Given the description of an element on the screen output the (x, y) to click on. 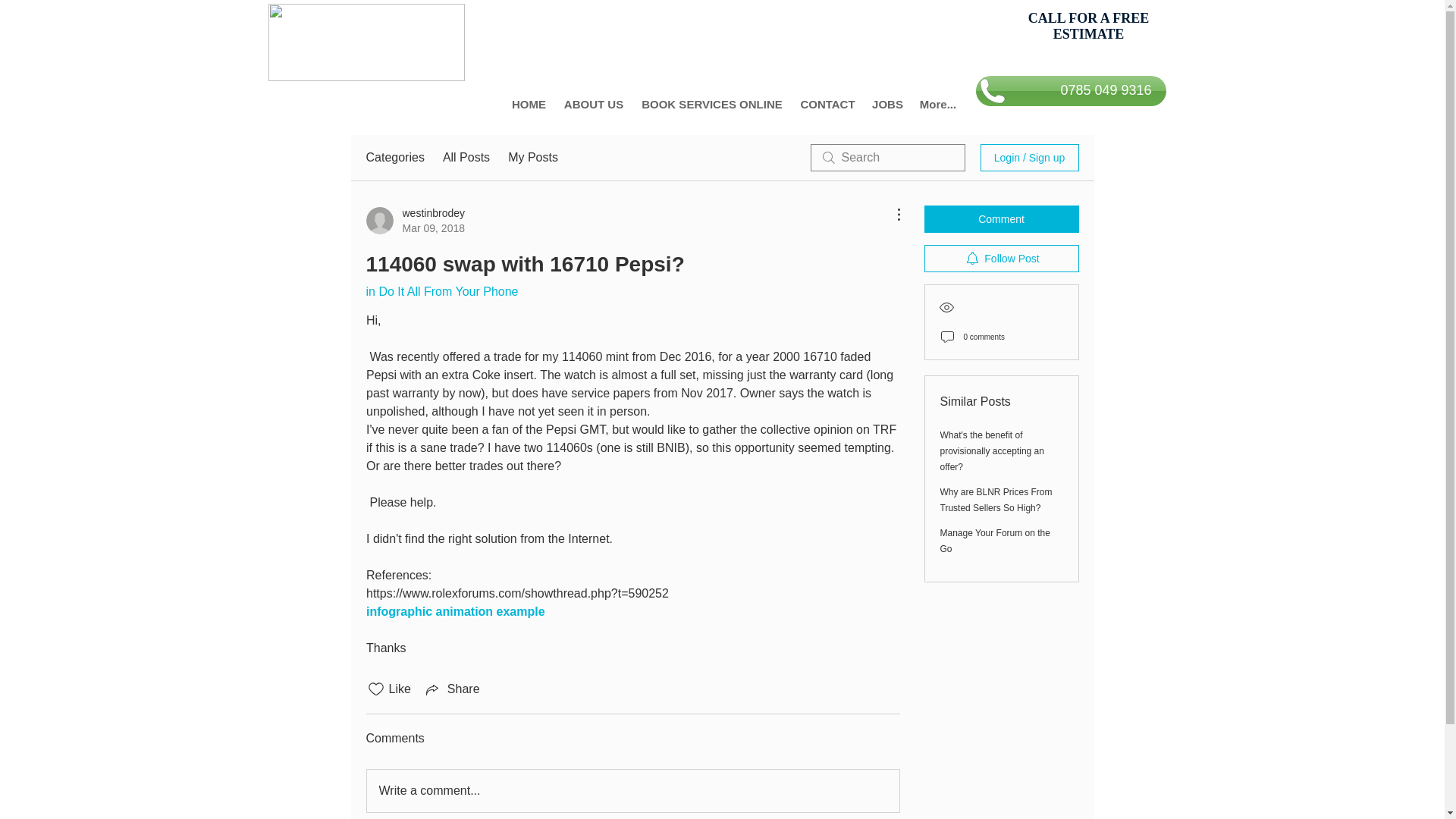
My Posts (532, 157)
ABOUT US (592, 104)
Follow Post (1000, 257)
infographic animation example (454, 611)
JOBS (887, 104)
Share (451, 689)
Why are BLNR Prices From Trusted Sellers So High? (996, 499)
Categories (394, 157)
Comment (1000, 218)
What's the benefit of provisionally accepting an offer? (991, 450)
